Given the description of an element on the screen output the (x, y) to click on. 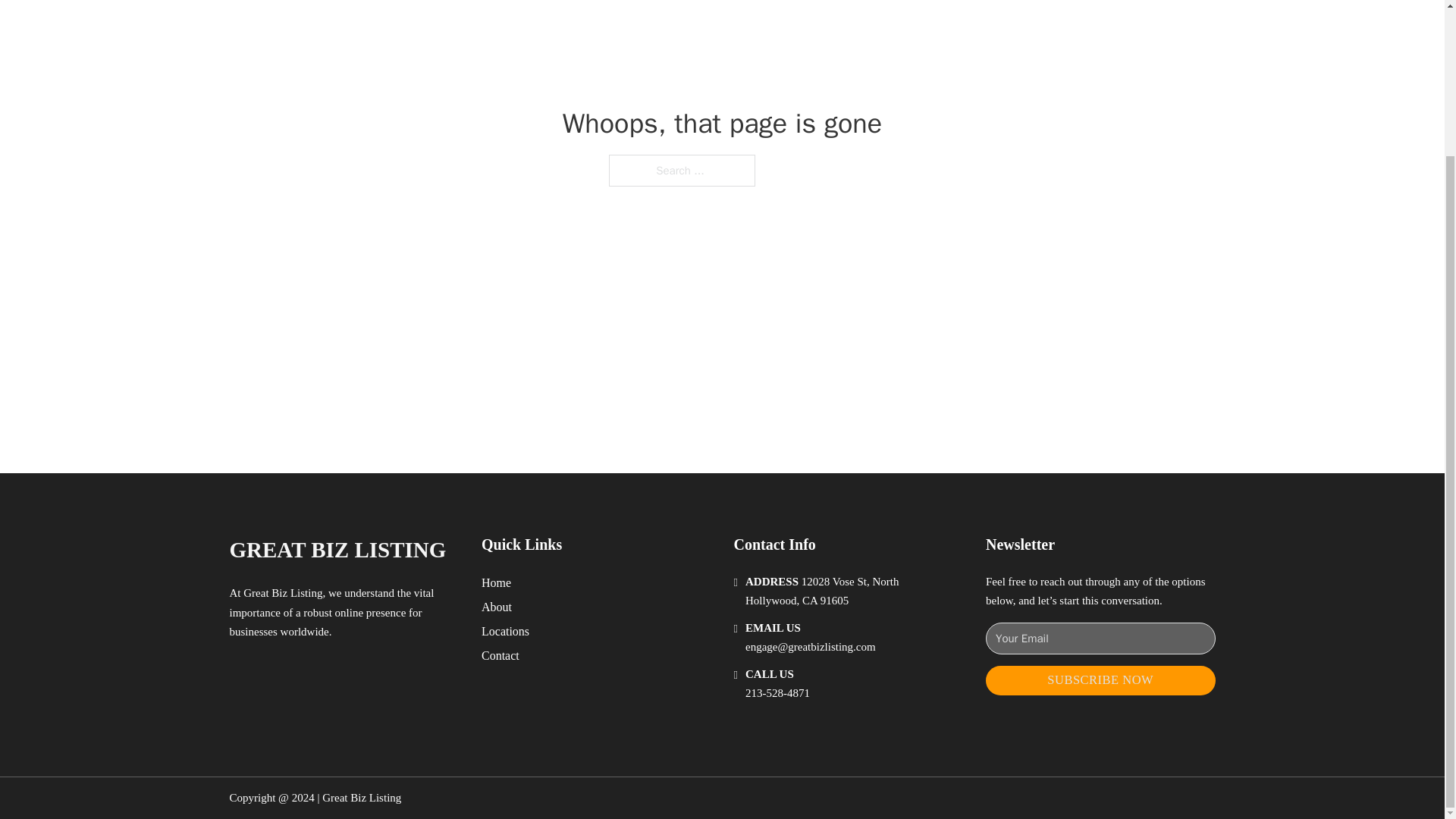
Contact (500, 655)
SUBSCRIBE NOW (1100, 680)
Home (496, 582)
Locations (505, 630)
About (496, 607)
213-528-4871 (777, 693)
GREAT BIZ LISTING (336, 549)
